Given the description of an element on the screen output the (x, y) to click on. 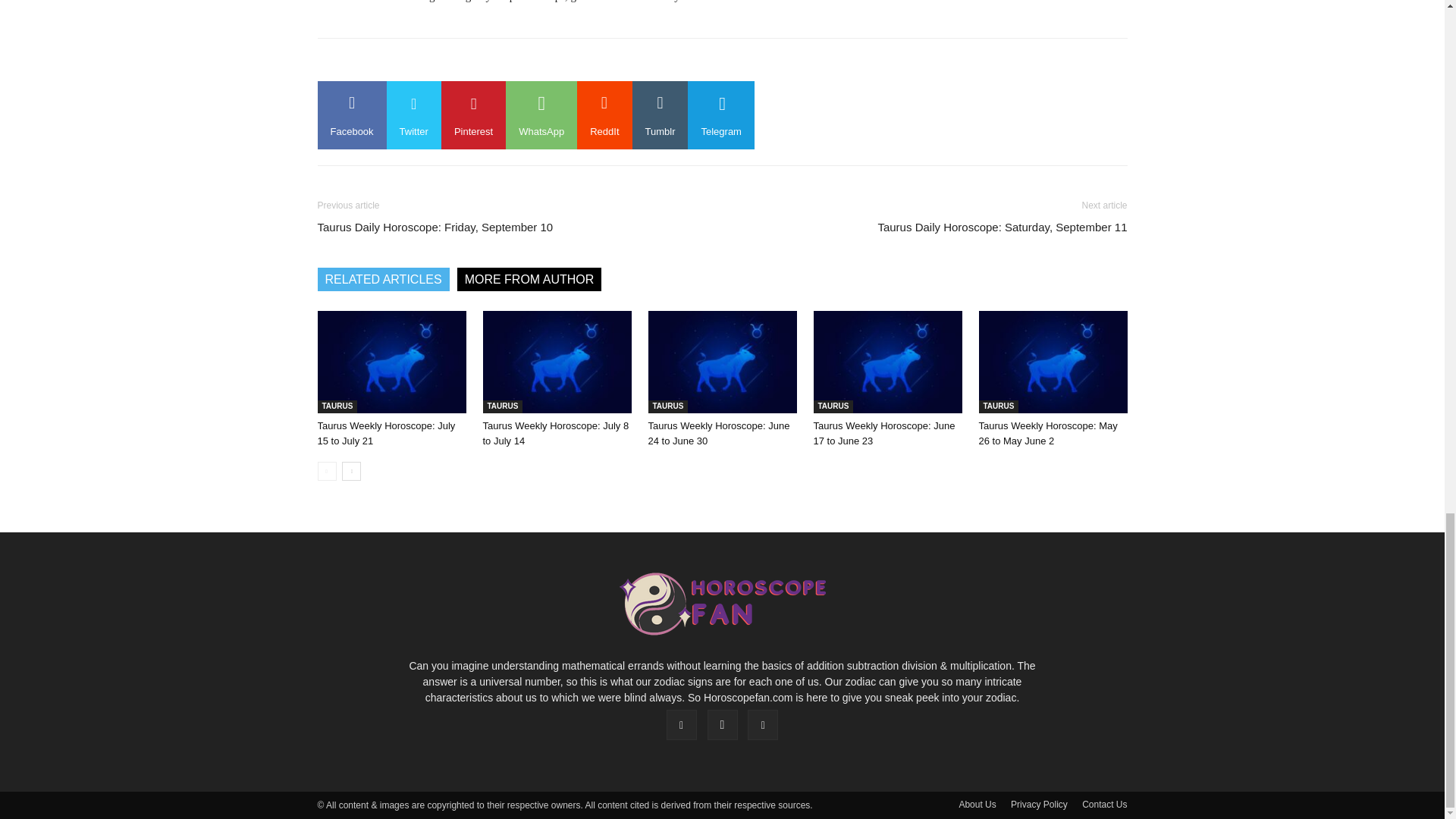
Pinterest (473, 115)
WhatsApp (540, 115)
Facebook (351, 115)
bottomFacebookLike (430, 62)
